Given the description of an element on the screen output the (x, y) to click on. 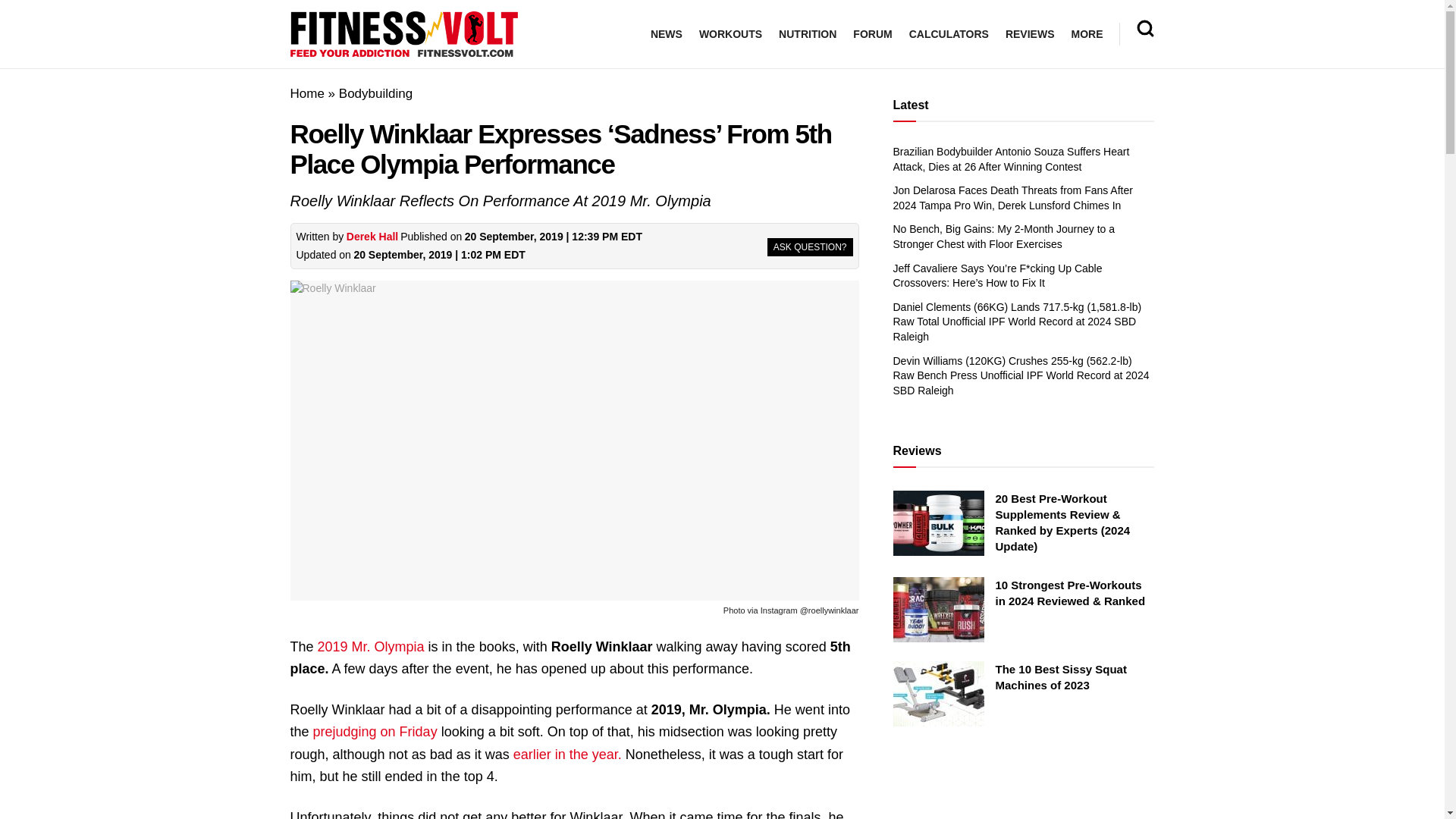
FORUM (872, 34)
NEWS (666, 34)
NUTRITION (806, 34)
WORKOUTS (729, 34)
REVIEWS (1030, 34)
MORE (1086, 34)
CALCULATORS (948, 34)
